Given the description of an element on the screen output the (x, y) to click on. 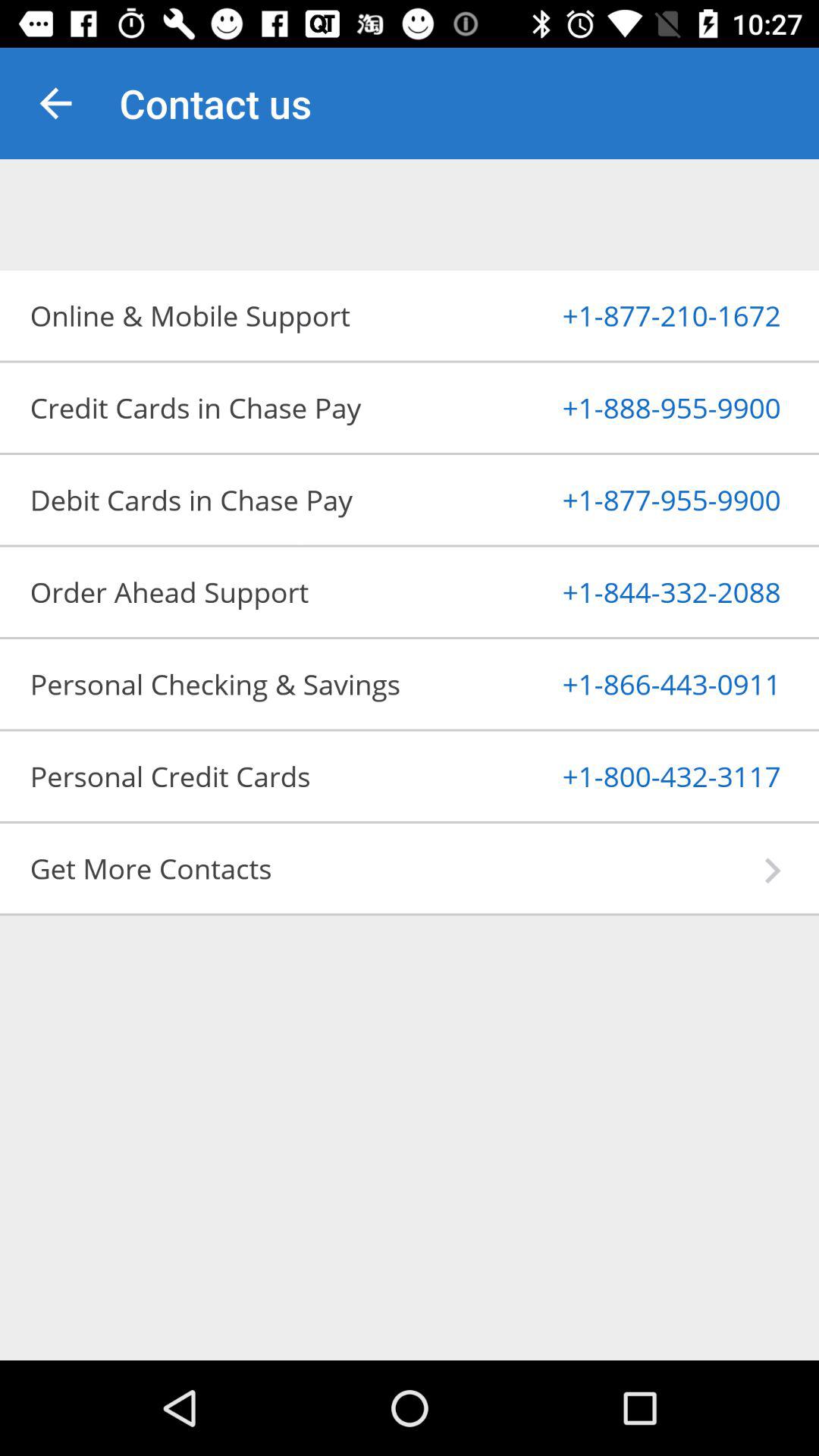
press the app next to get more contacts icon (772, 870)
